Given the description of an element on the screen output the (x, y) to click on. 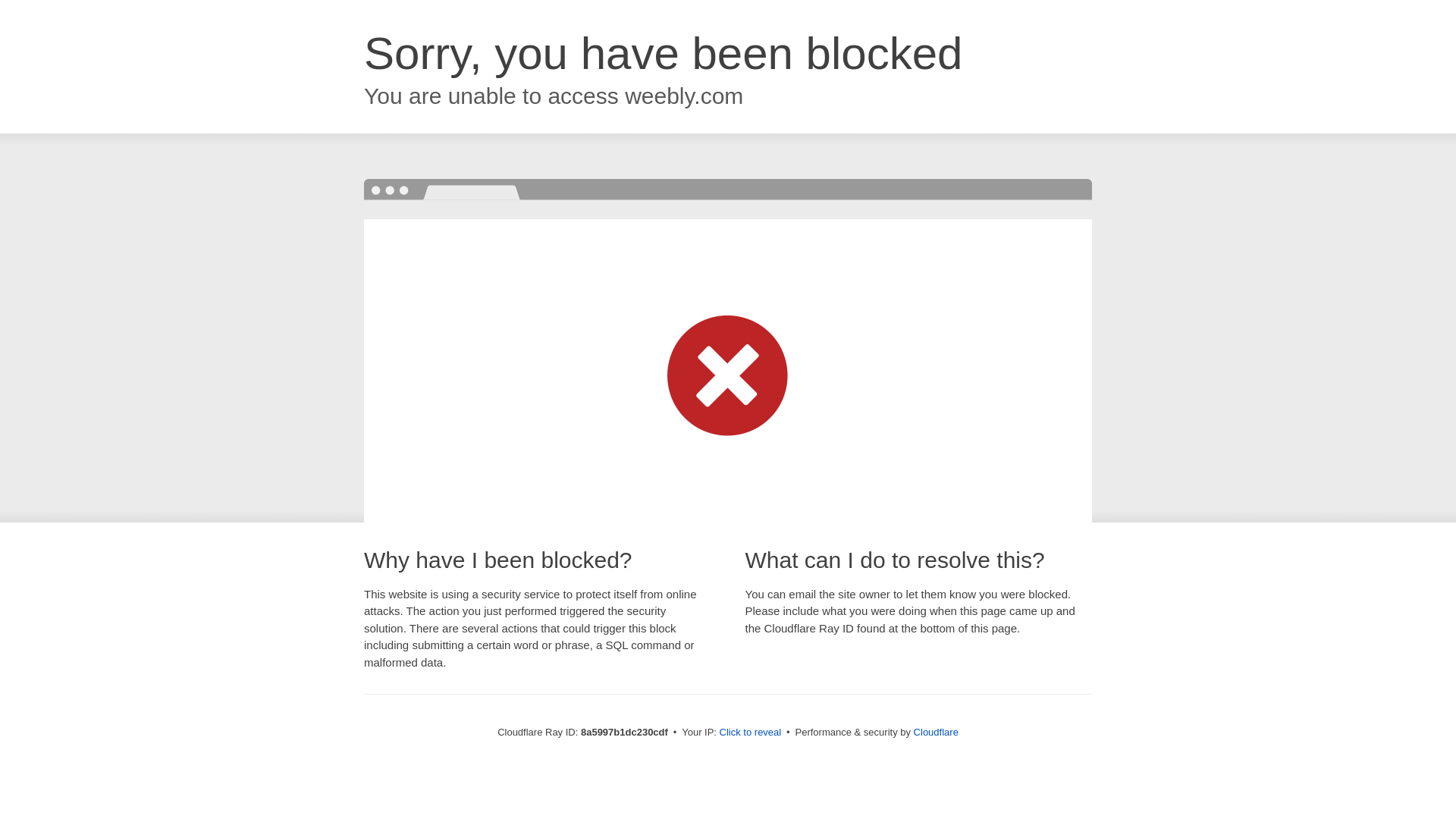
Click to reveal (750, 732)
Cloudflare (936, 731)
